Given the description of an element on the screen output the (x, y) to click on. 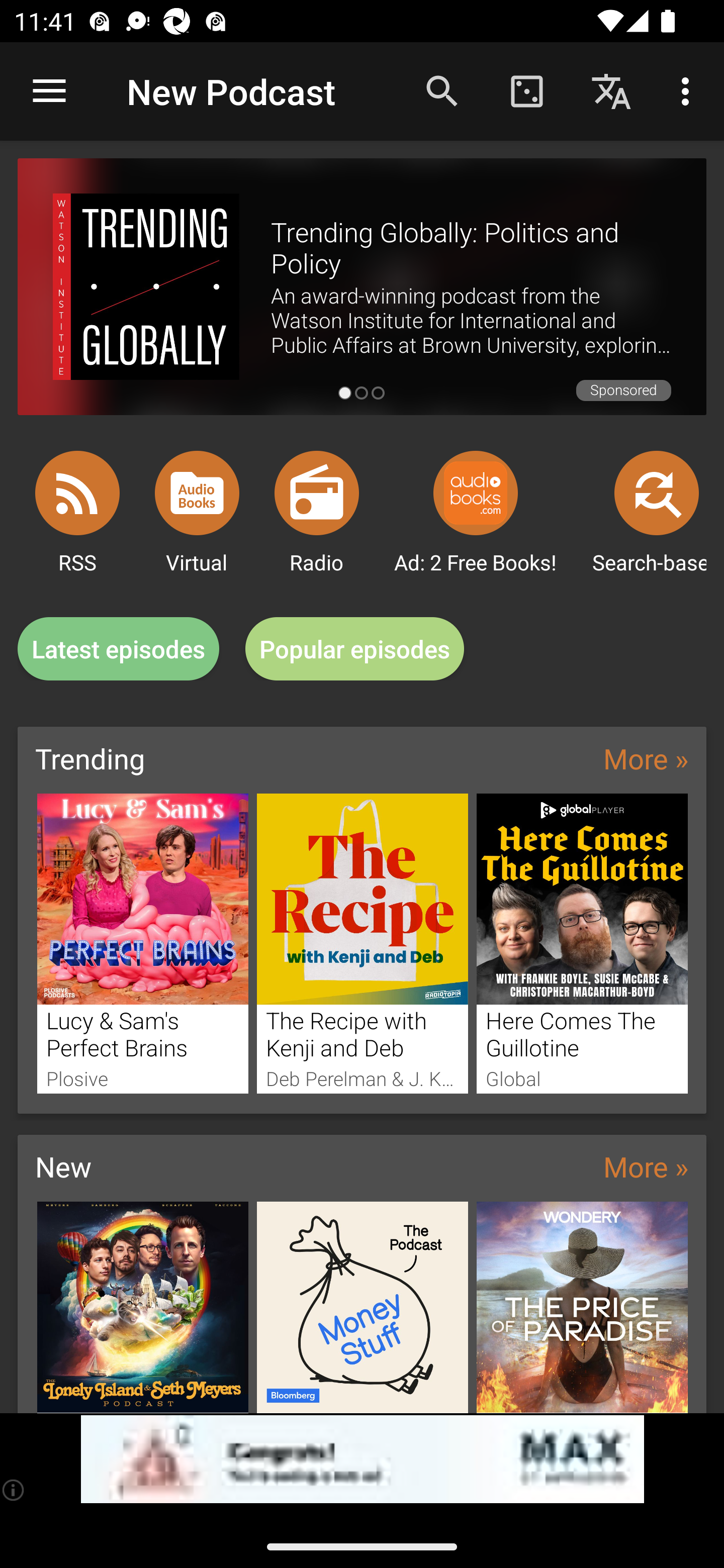
Open navigation sidebar (49, 91)
Search (442, 90)
Random pick (526, 90)
Podcast languages (611, 90)
More options (688, 90)
RSS (77, 492)
Virtual (196, 492)
Radio (316, 492)
Search-based (656, 492)
Latest episodes (118, 648)
Popular episodes (354, 648)
More » (645, 757)
Lucy & Sam's Perfect Brains Plosive (142, 942)
Here Comes The Guillotine Global (581, 942)
More » (645, 1166)
The Lonely Island and Seth Meyers Podcast (142, 1306)
Money Stuff: The Podcast (362, 1306)
The Price of Paradise (581, 1306)
app-monetization (362, 1459)
(i) (14, 1489)
